Given the description of an element on the screen output the (x, y) to click on. 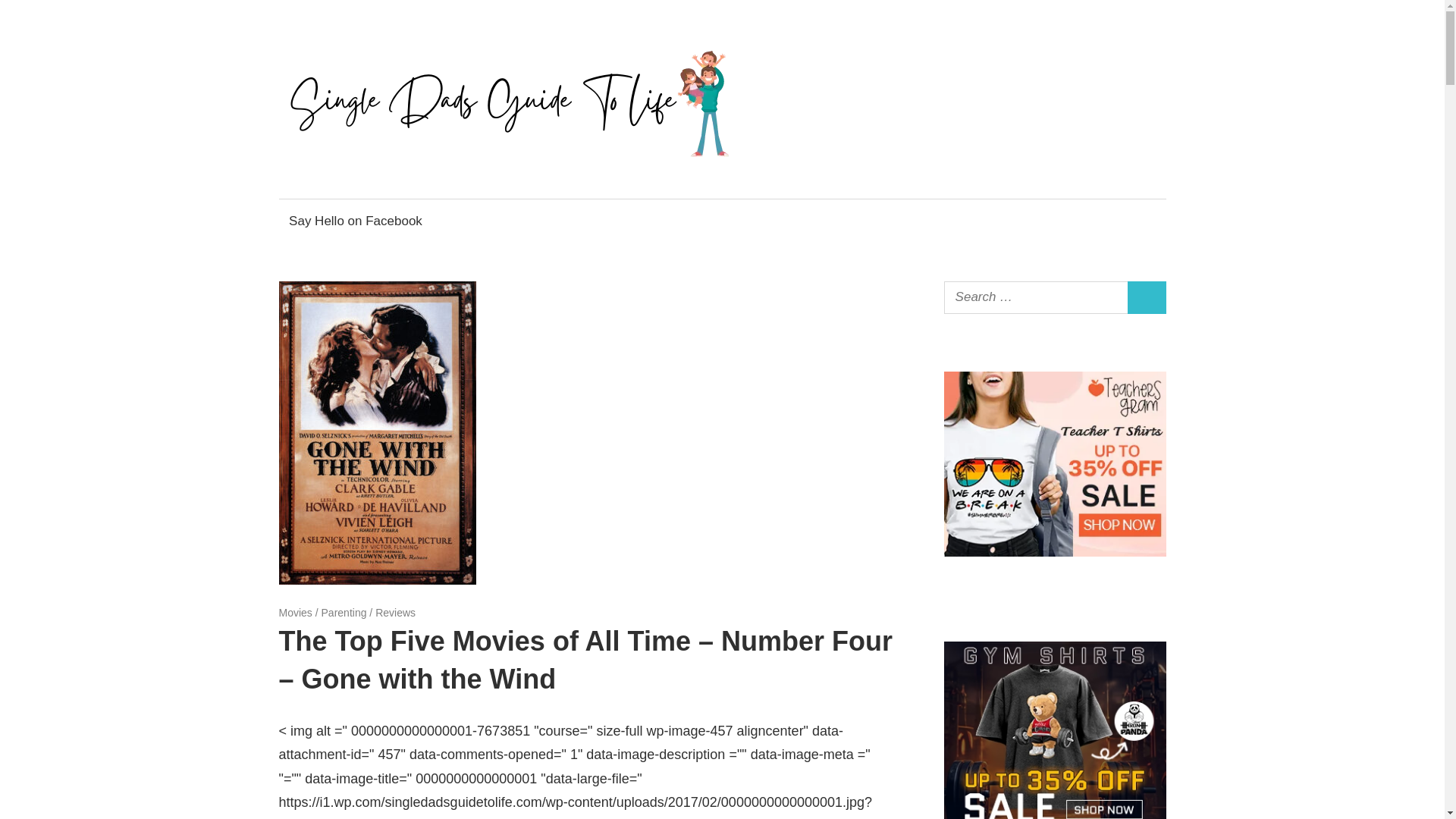
17.12.2019 (305, 612)
gym shirts (1054, 816)
Parenting (343, 612)
Reviews (394, 612)
Movies (296, 612)
Say Hello on Facebook (355, 221)
09:54 (305, 612)
Search for: (1035, 297)
teacher shirt (1054, 552)
